Given the description of an element on the screen output the (x, y) to click on. 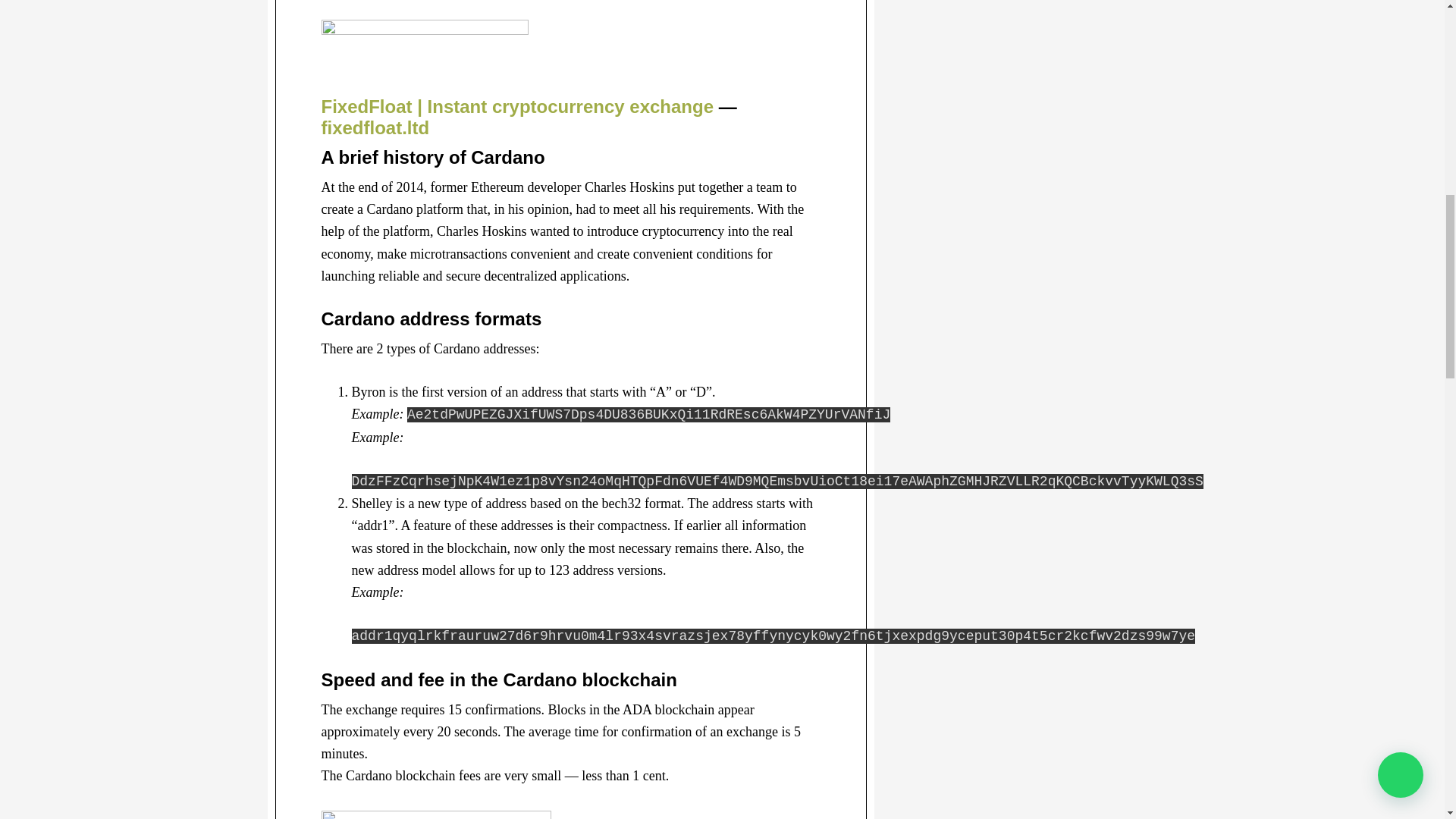
fixedfloat.ltd (375, 127)
